Given the description of an element on the screen output the (x, y) to click on. 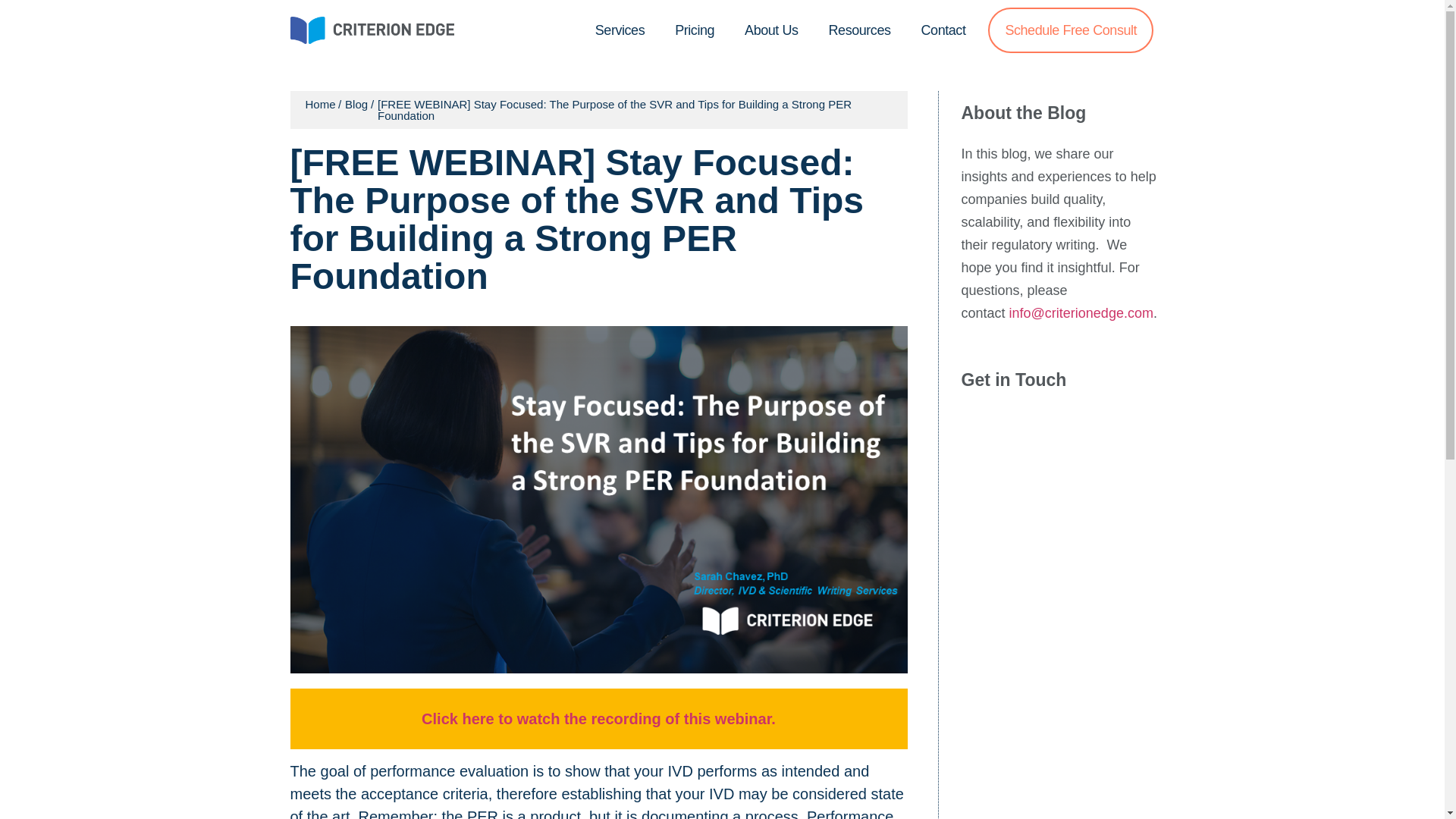
Click here to watch the recording of this webinar. (599, 718)
Contact (943, 30)
Pricing (694, 30)
About Us (770, 30)
Services (619, 30)
Schedule Free Consult (1070, 30)
Home (319, 103)
Blog (356, 103)
Resources (859, 30)
